Given the description of an element on the screen output the (x, y) to click on. 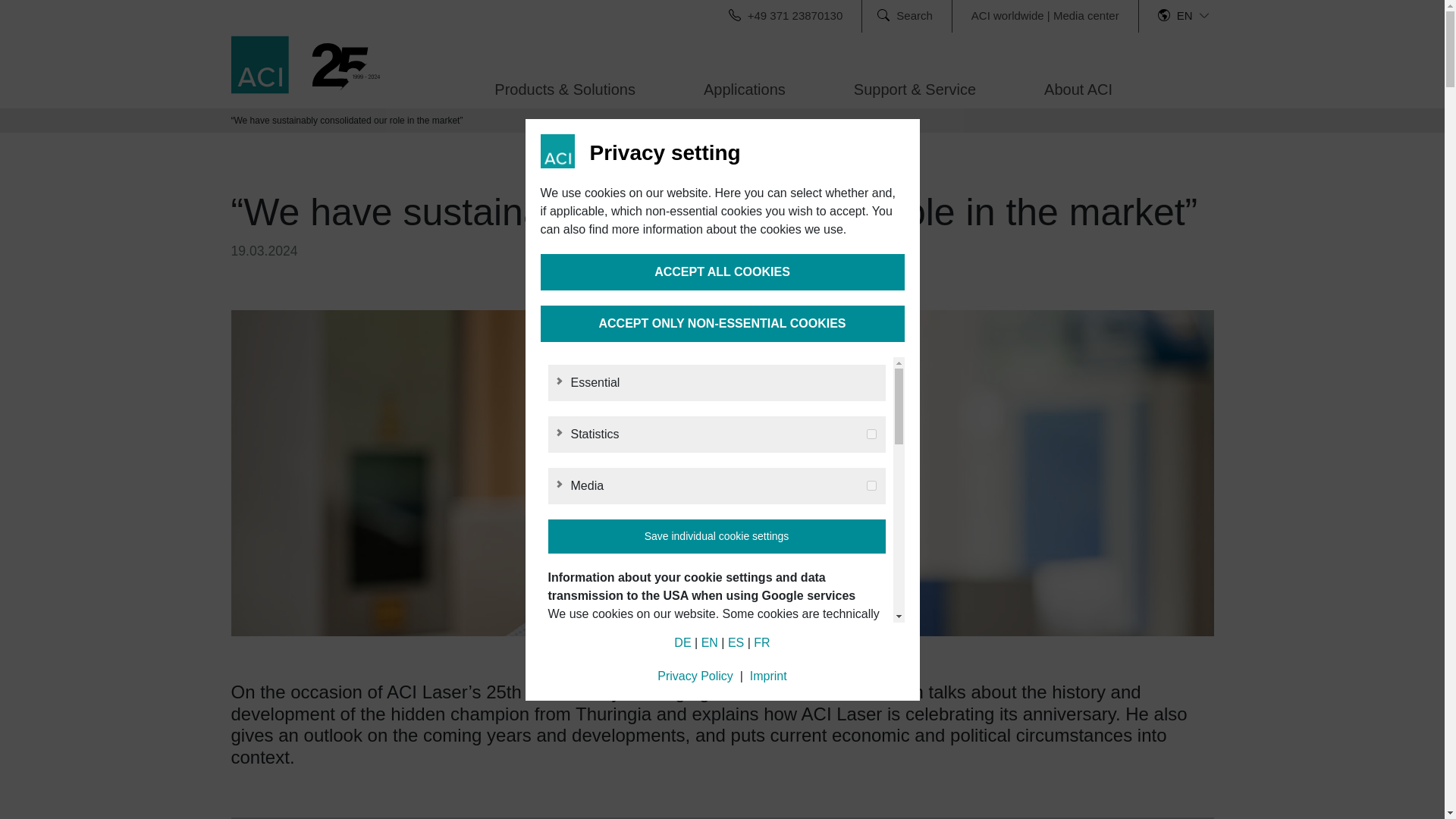
ACI worldwide (1007, 15)
on (871, 433)
Contact (674, 15)
ACI worldwide (1007, 15)
Media center (1085, 15)
on (871, 485)
Media center (1085, 15)
